Given the description of an element on the screen output the (x, y) to click on. 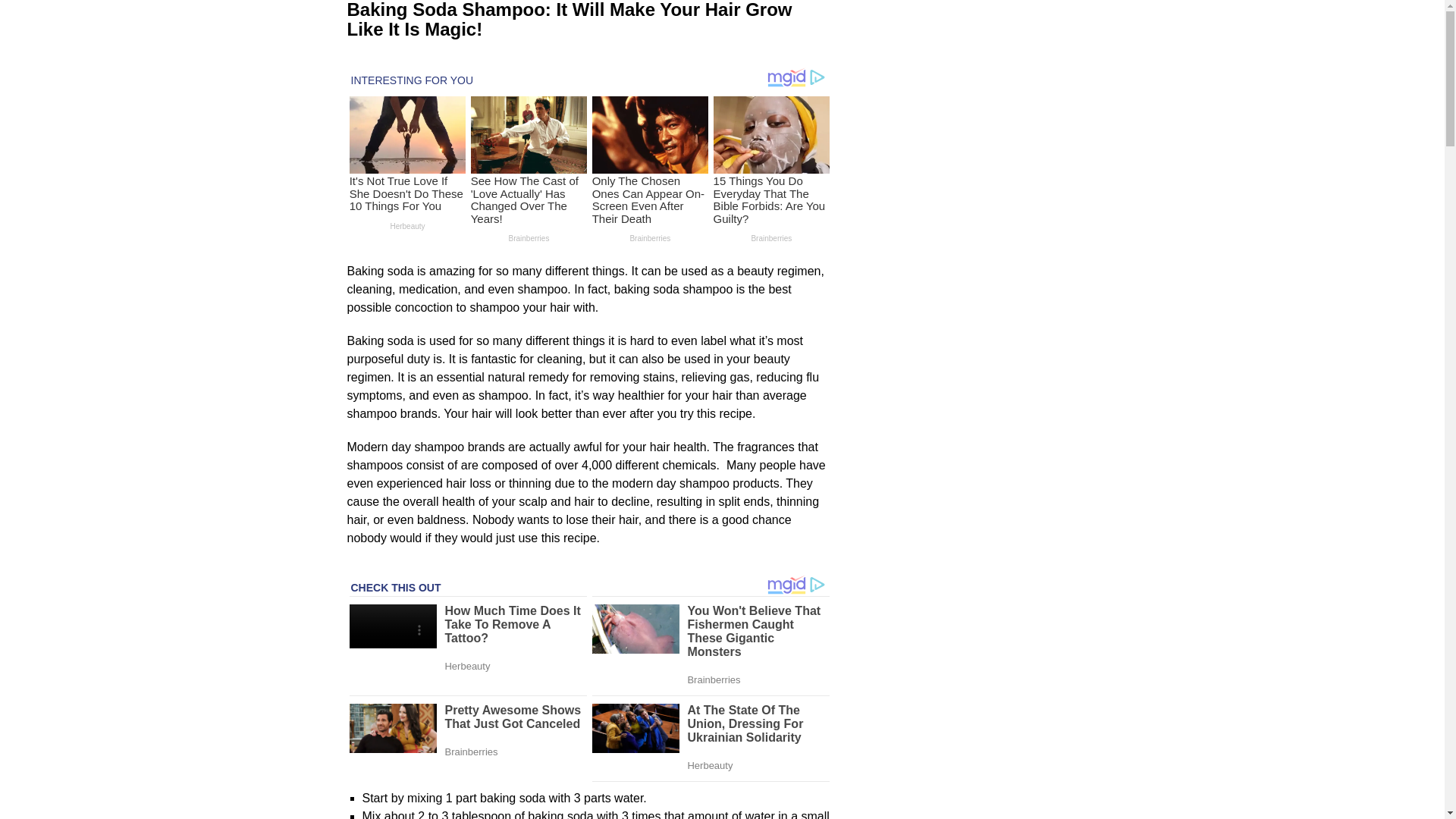
Brainberries (771, 237)
Brainberries (650, 237)
Herbeauty (407, 225)
Brainberries (529, 237)
It's Not True Love If She Doesn't Do These 10 Things For You (406, 193)
